Given the description of an element on the screen output the (x, y) to click on. 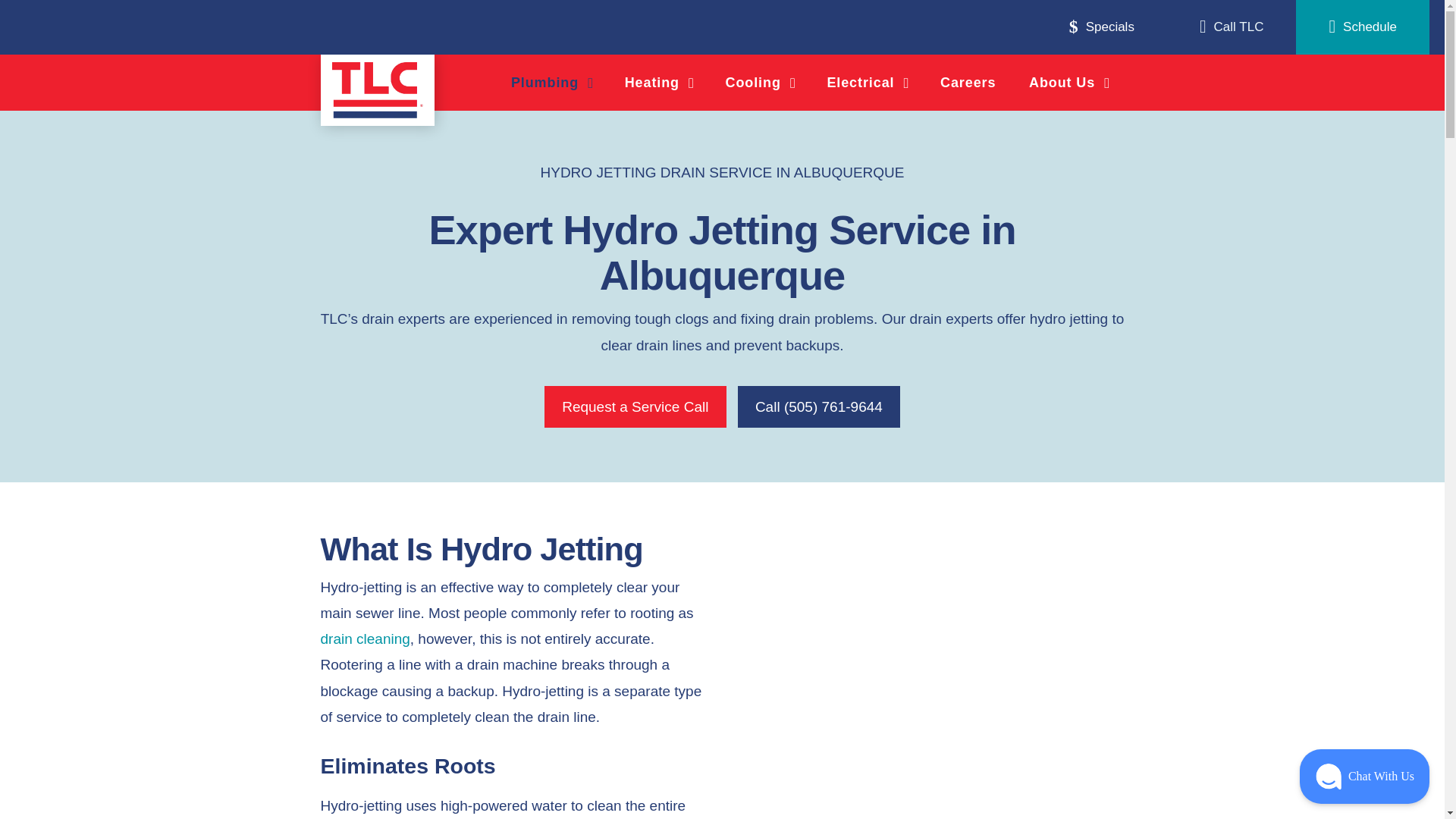
Plumbing (551, 82)
Schedule (1362, 27)
YouTube video player (930, 650)
Specials (1101, 27)
